Given the description of an element on the screen output the (x, y) to click on. 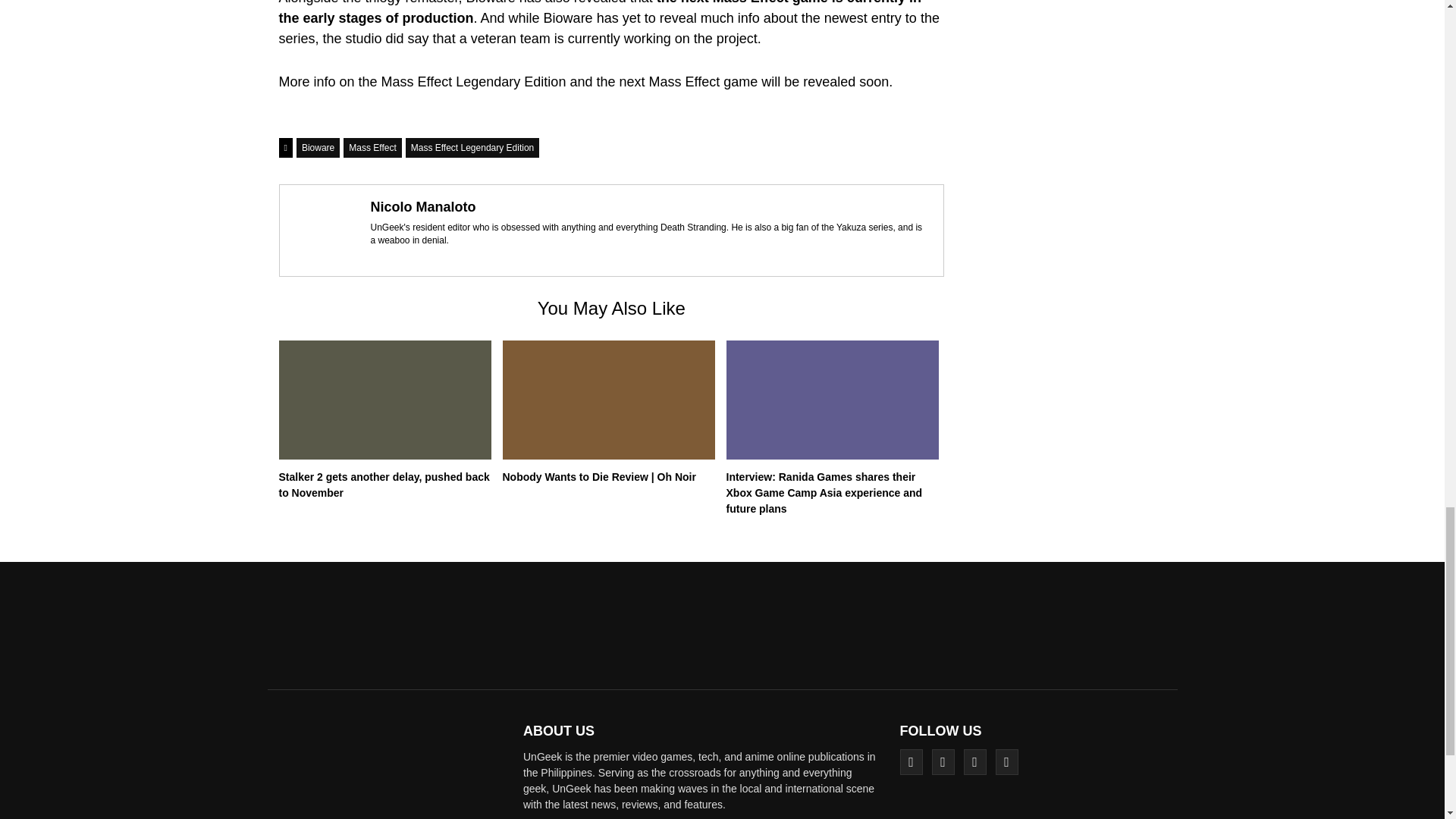
Bioware (318, 148)
UnGeek (389, 771)
Mass Effect (372, 148)
Stalker 2 gets another delay, pushed back to November (384, 484)
Mass Effect Legendary Edition (473, 148)
